Given the description of an element on the screen output the (x, y) to click on. 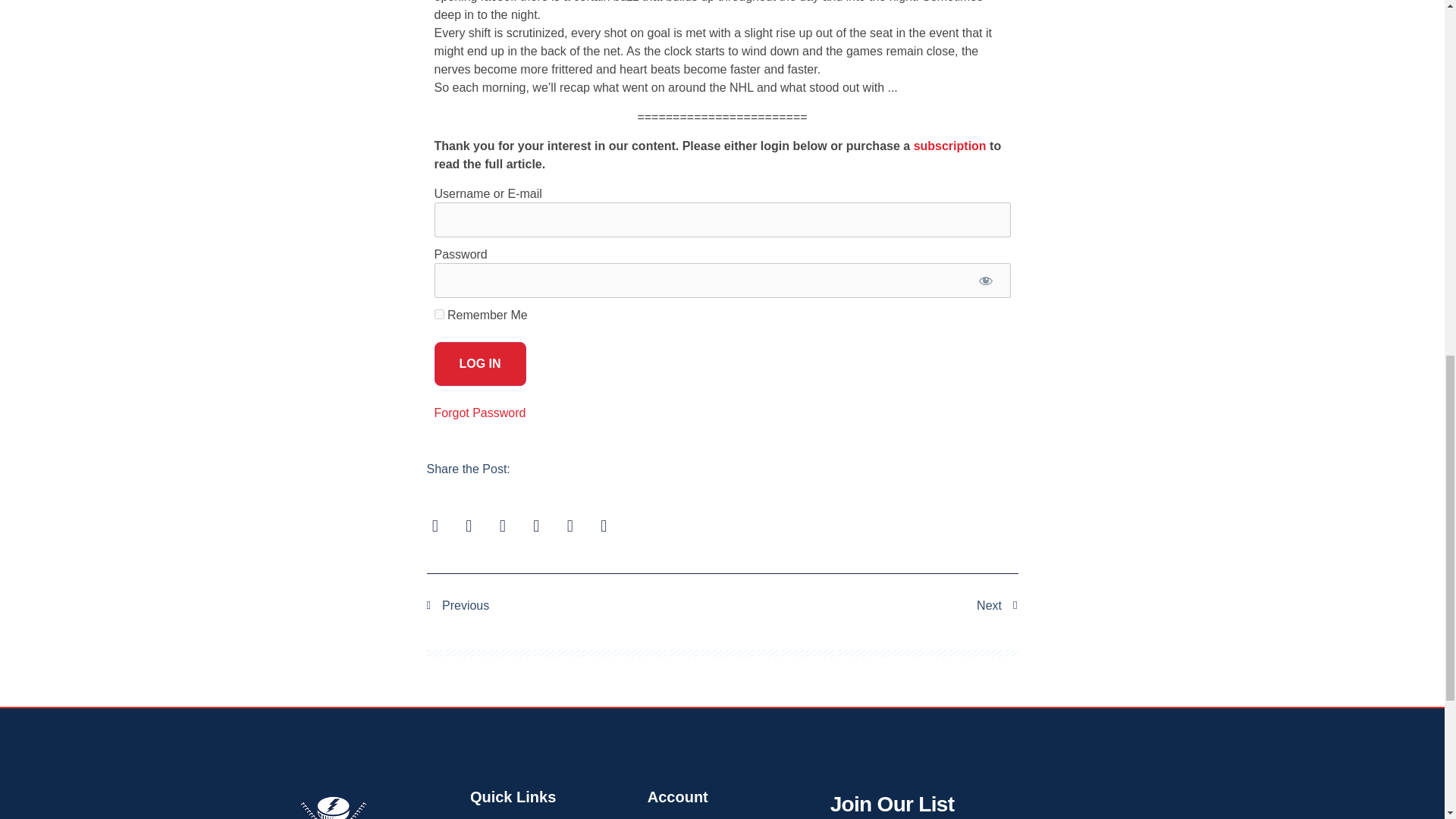
Previous (574, 606)
Next (869, 606)
Log In (479, 363)
forever (438, 314)
Log In (479, 363)
Forgot Password (479, 412)
subscription (950, 145)
